Given the description of an element on the screen output the (x, y) to click on. 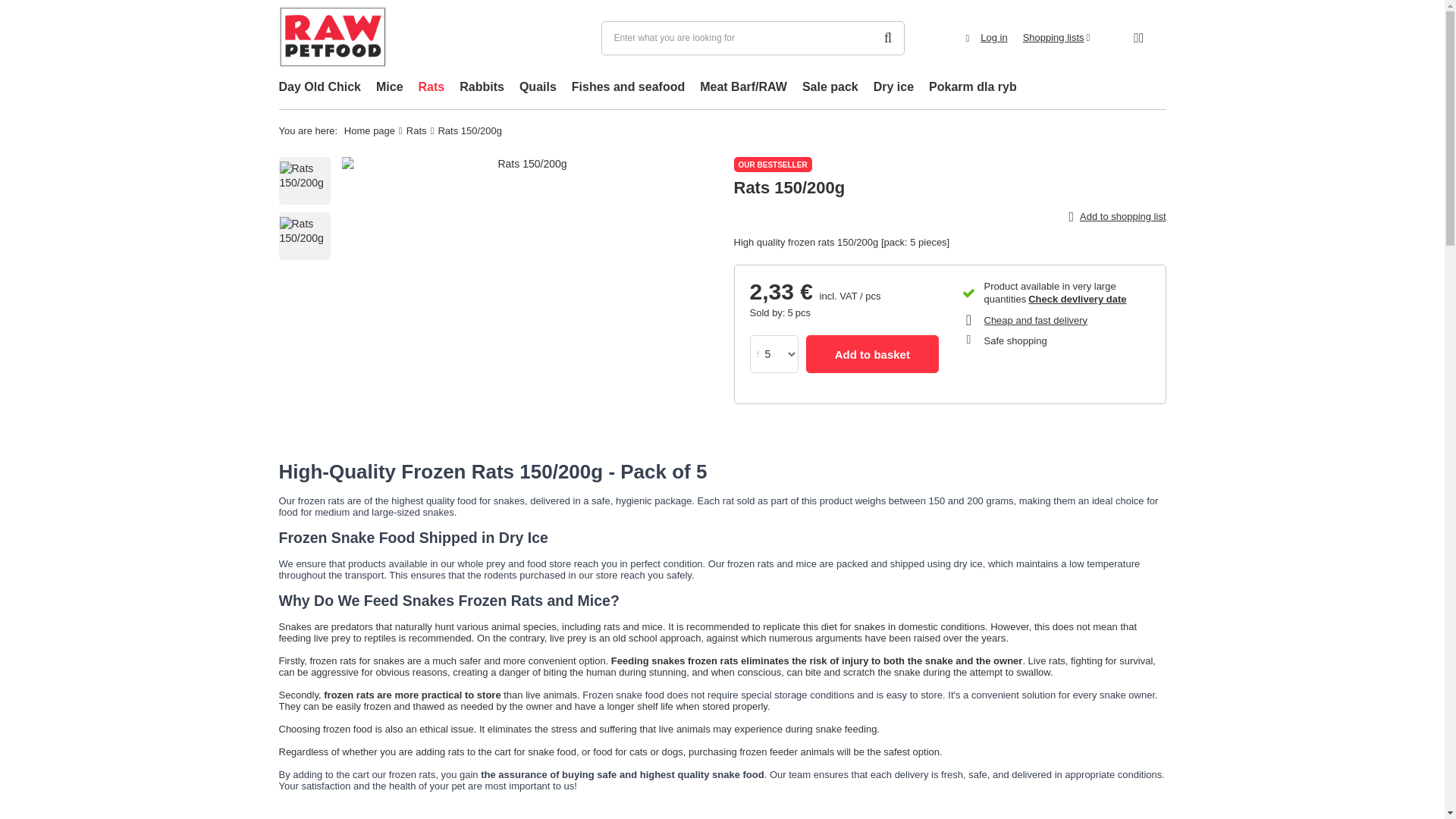
Log in (993, 38)
Pokarm dla ryb (973, 88)
Sale pack (830, 88)
Quails (538, 88)
Quails (538, 88)
Day Old Chick (319, 88)
Mice (389, 88)
Dry ice (893, 88)
Rats (431, 88)
Shopping lists (1056, 37)
